Given the description of an element on the screen output the (x, y) to click on. 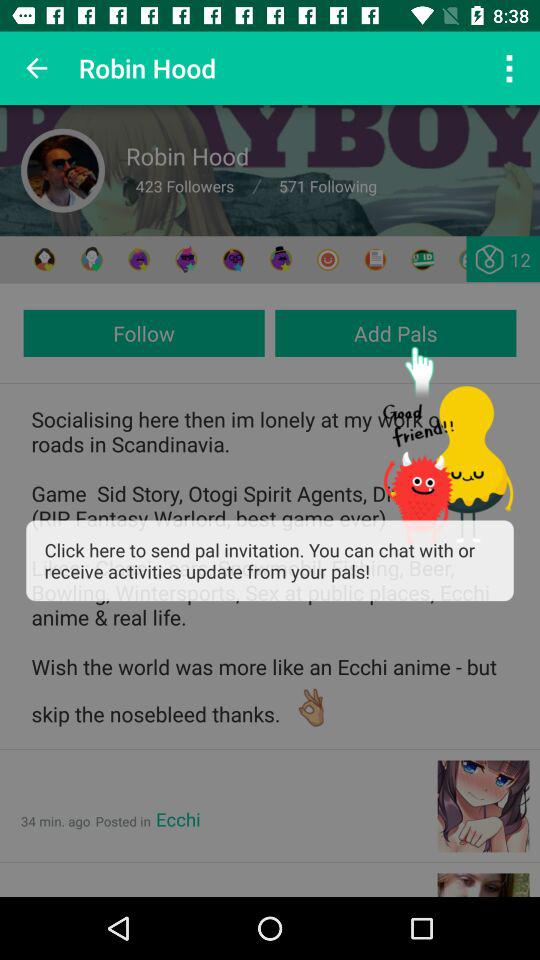
go to friends profile (91, 259)
